Given the description of an element on the screen output the (x, y) to click on. 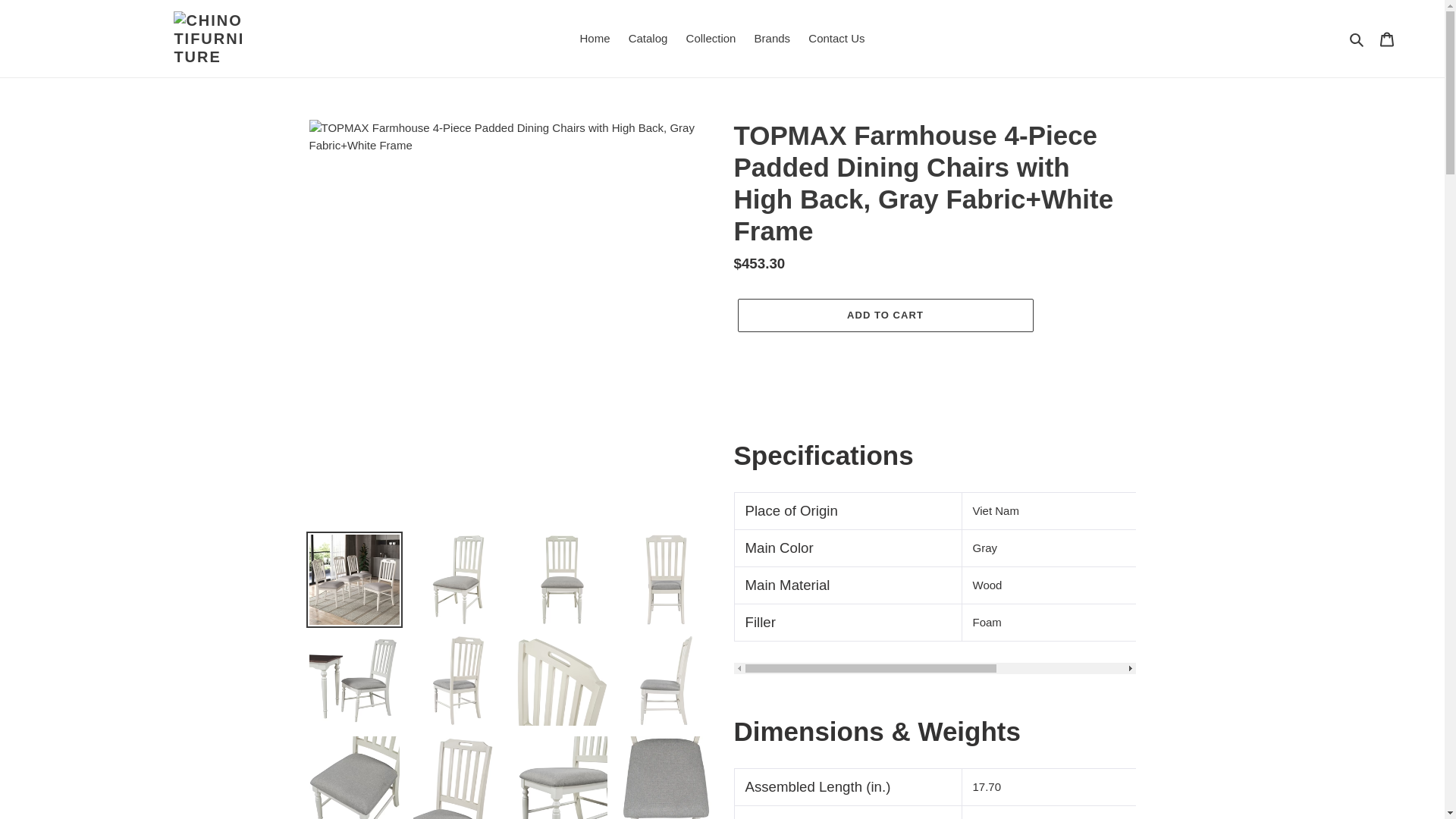
Cart (1387, 38)
Search (1357, 38)
ADD TO CART (884, 315)
Brands (771, 38)
Catalog (648, 38)
Collection (711, 38)
Home (594, 38)
Contact Us (836, 38)
